Given the description of an element on the screen output the (x, y) to click on. 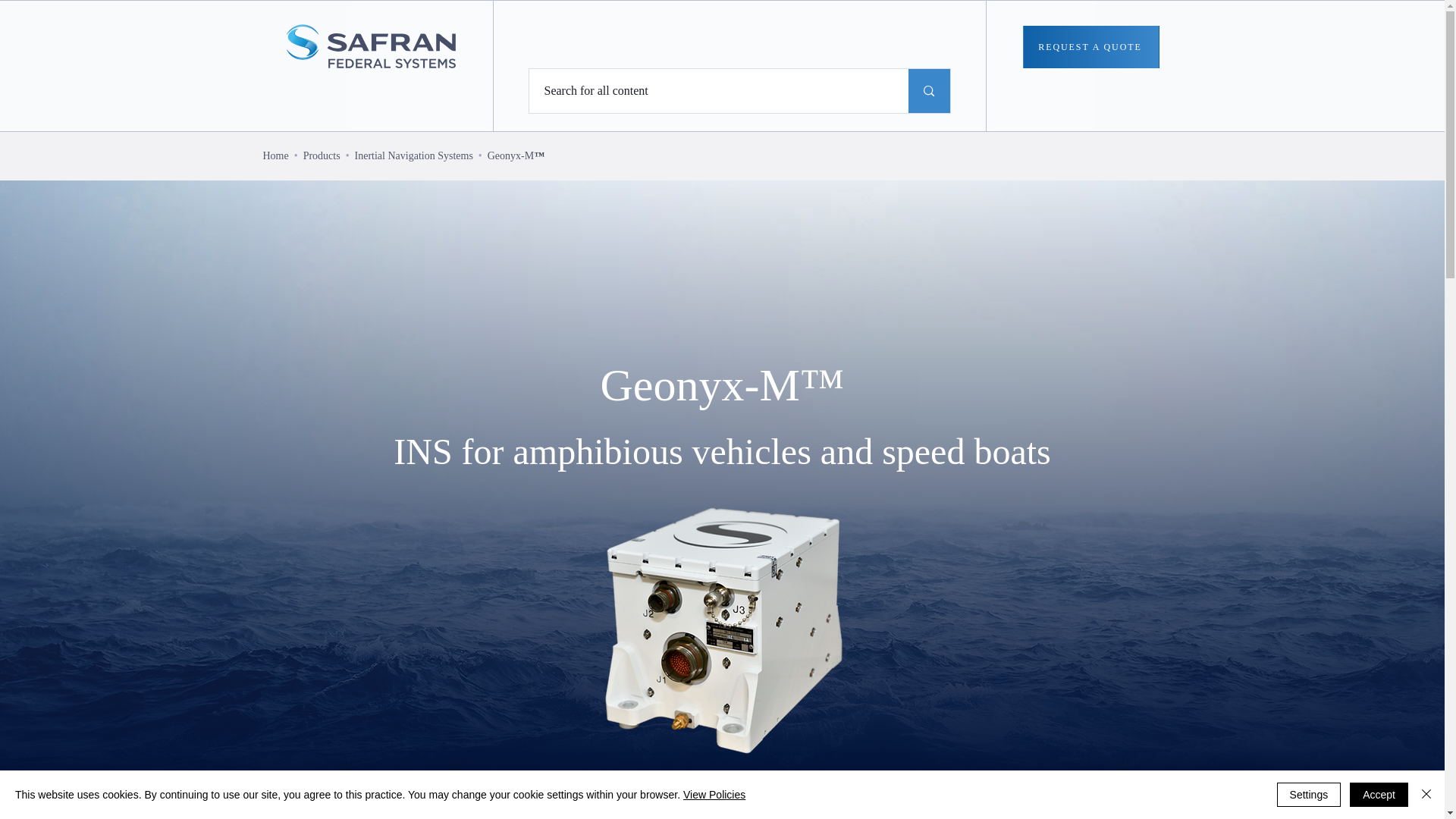
REQUEST A QUOTE (1090, 46)
Accept (1378, 794)
View Policies (713, 794)
Settings (1308, 794)
